Given the description of an element on the screen output the (x, y) to click on. 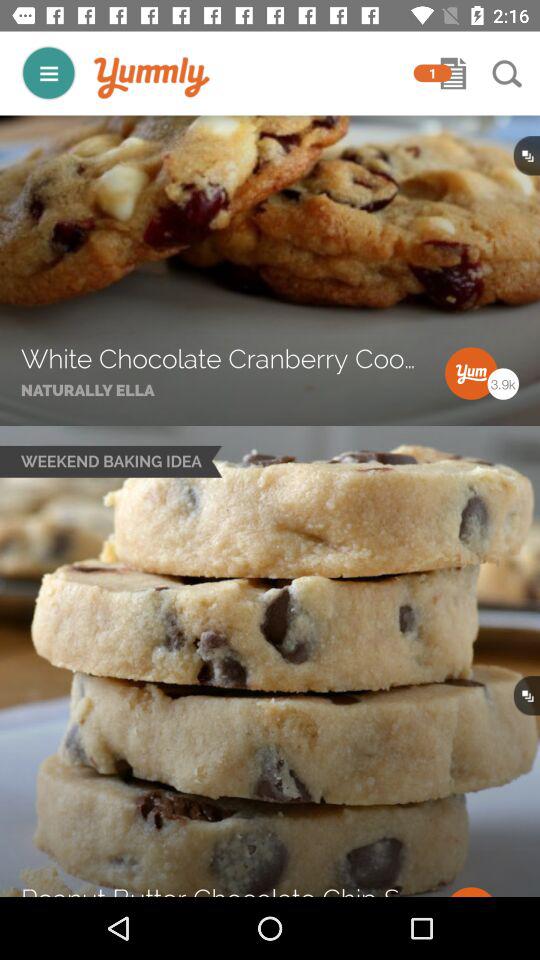
jump to 1 (432, 73)
